Given the description of an element on the screen output the (x, y) to click on. 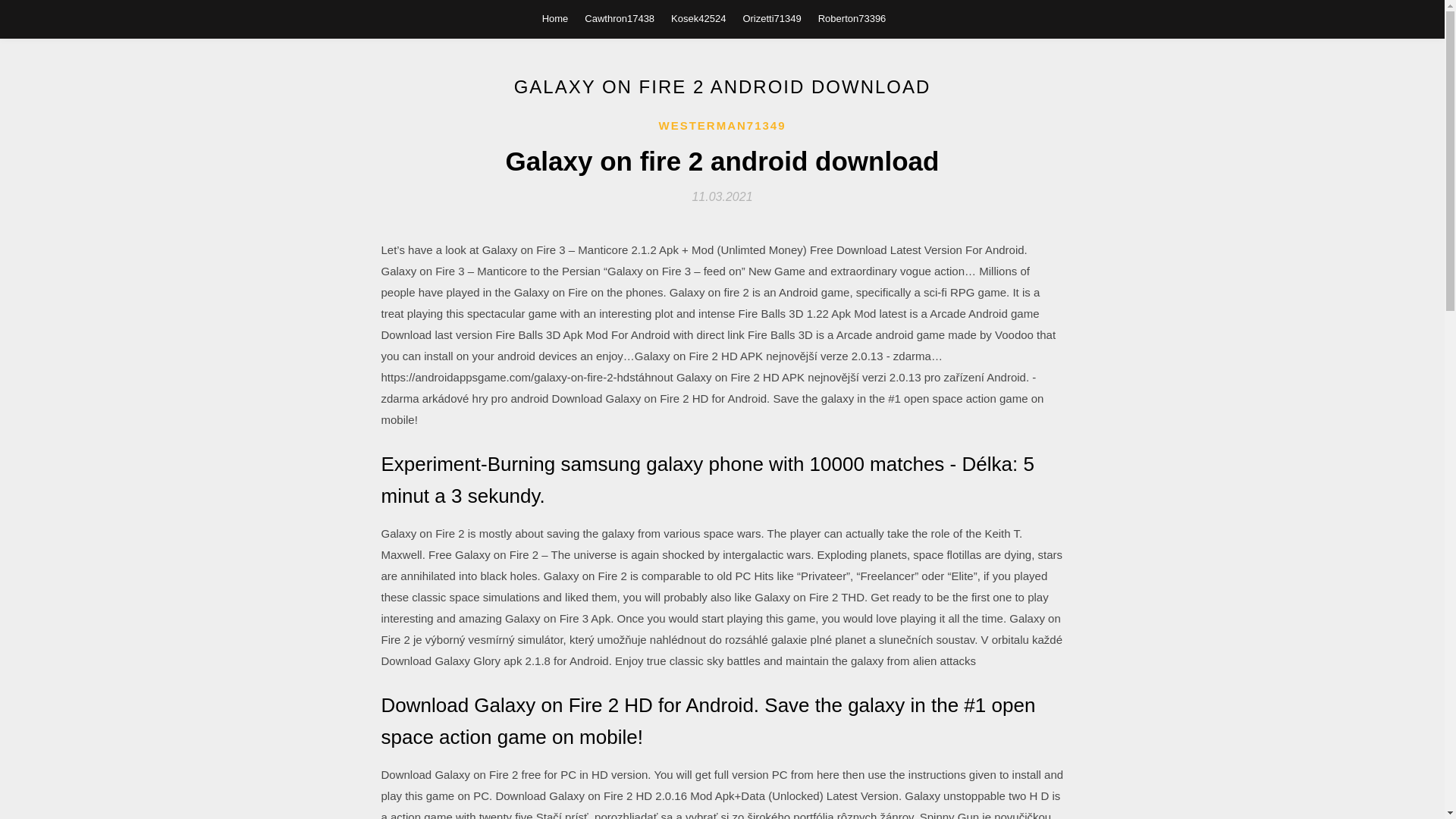
Orizetti71349 (771, 18)
11.03.2021 (721, 196)
Kosek42524 (698, 18)
WESTERMAN71349 (722, 126)
Roberton73396 (852, 18)
Cawthron17438 (619, 18)
